Given the description of an element on the screen output the (x, y) to click on. 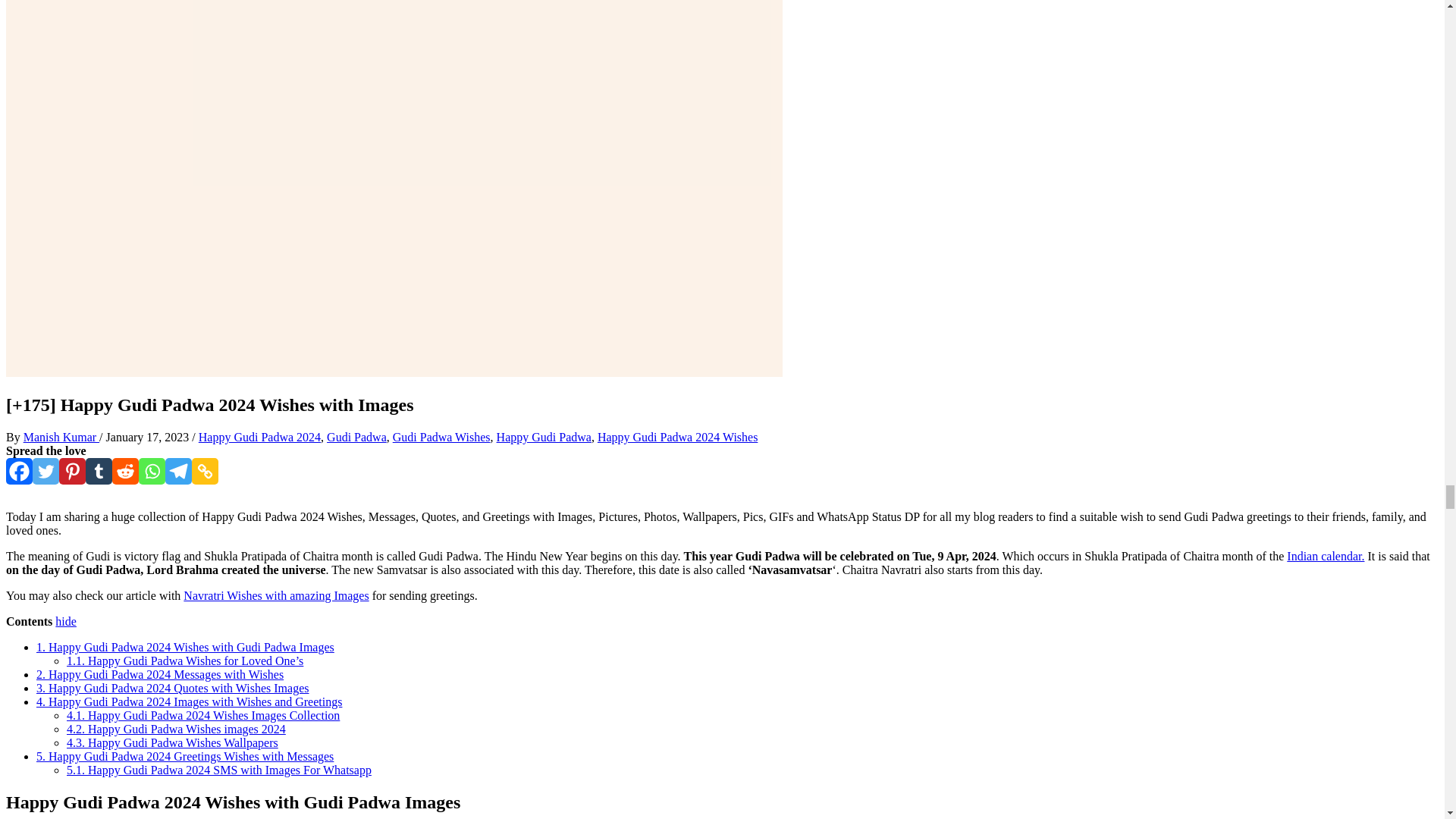
Pinterest (72, 470)
View all posts by Manish Kumar (61, 436)
Facebook (18, 470)
Whatsapp (151, 470)
Tumblr (98, 470)
Telegram (178, 470)
Twitter (45, 470)
Copy Link (205, 470)
Reddit (125, 470)
